Given the description of an element on the screen output the (x, y) to click on. 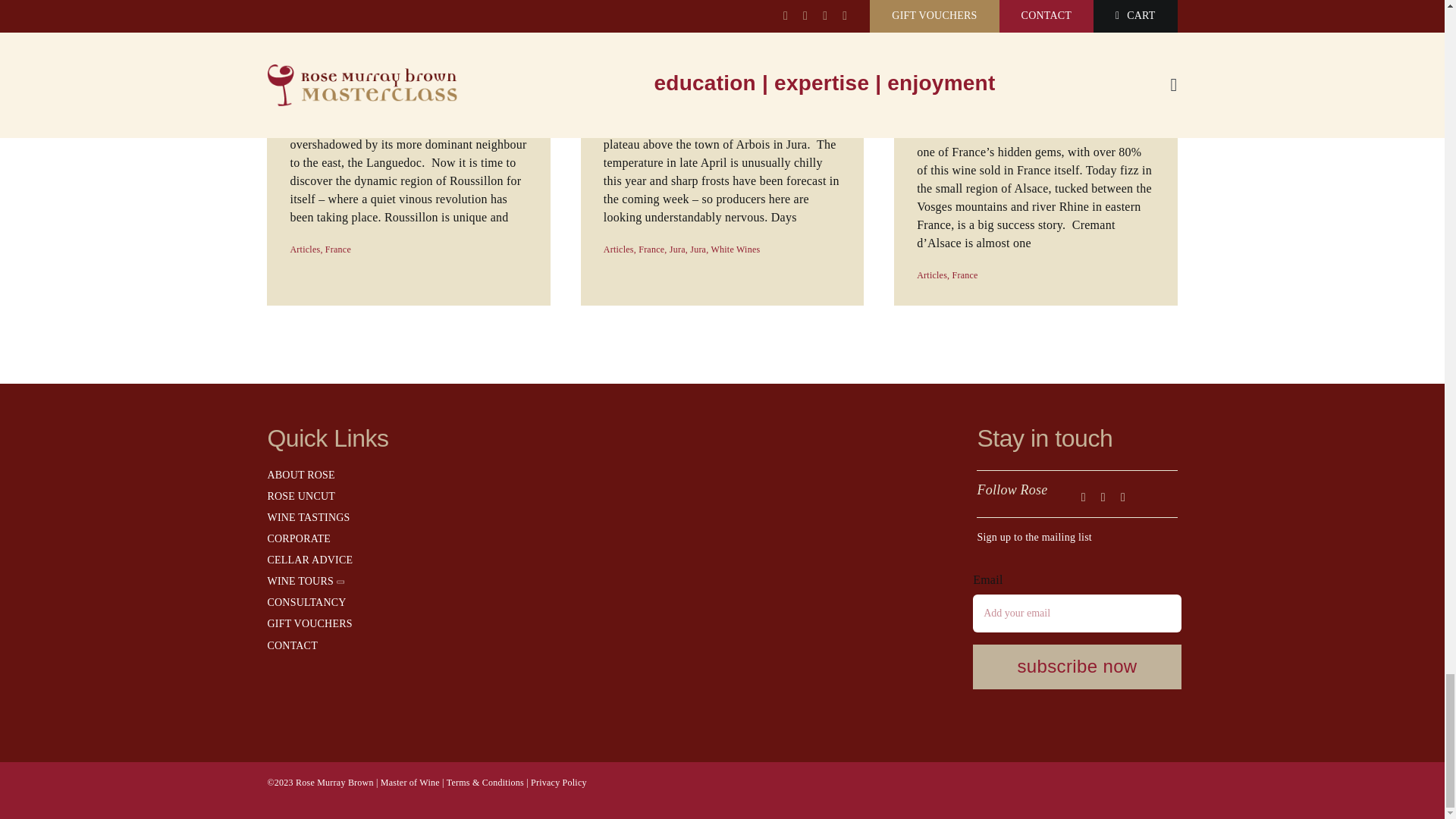
France (651, 249)
Jura (677, 249)
France (965, 275)
Articles (1076, 636)
White Wines (932, 275)
Jura (735, 249)
Jura (677, 249)
Articles (698, 249)
VISITING JURA (304, 249)
France (666, 55)
Articles (337, 249)
France (618, 249)
ROUSSILLON RENAISSANCE (337, 249)
Jura (408, 55)
